Given the description of an element on the screen output the (x, y) to click on. 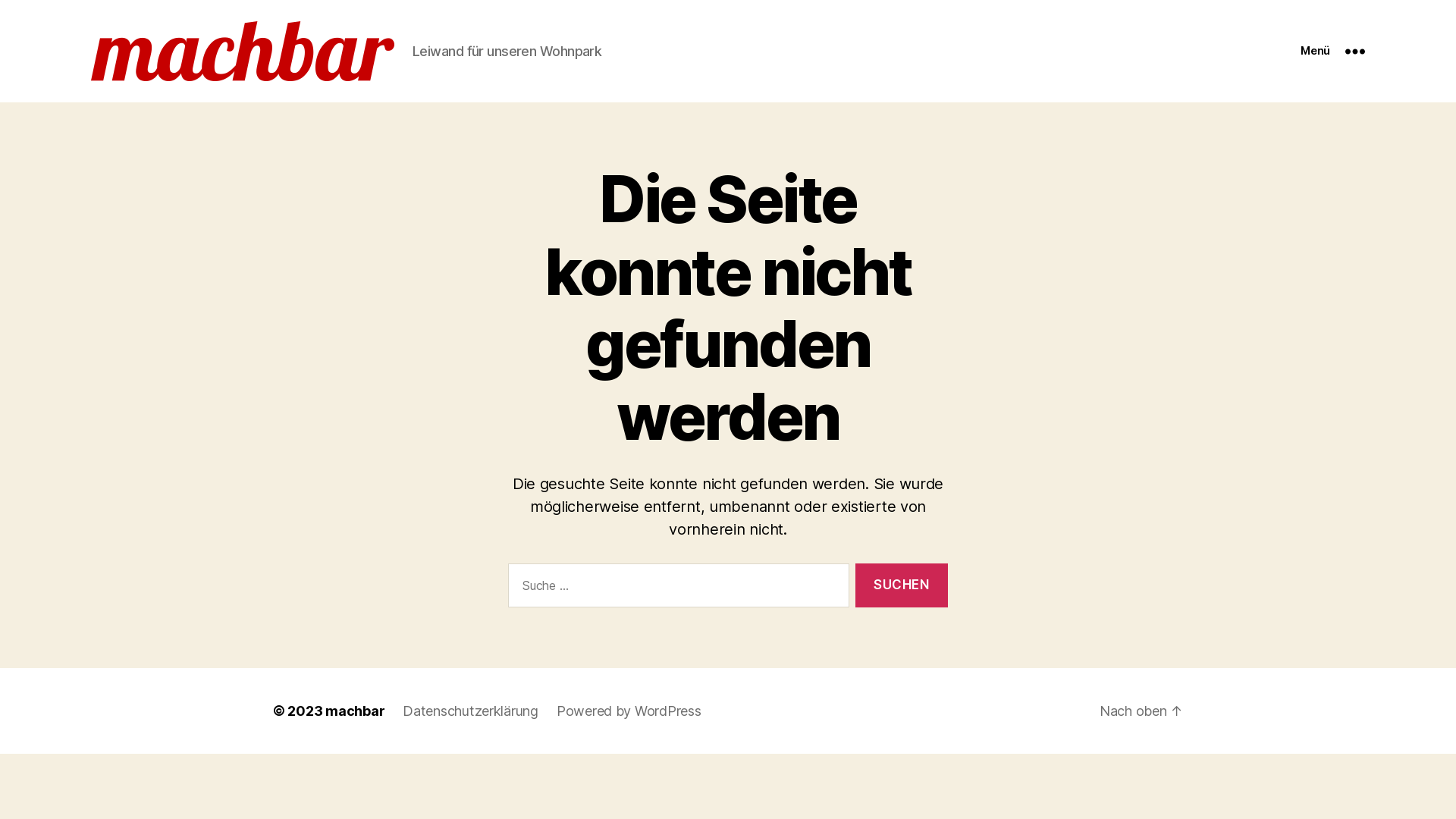
Powered by WordPress Element type: text (628, 710)
Suchen Element type: text (901, 585)
machbar Element type: text (354, 710)
